Given the description of an element on the screen output the (x, y) to click on. 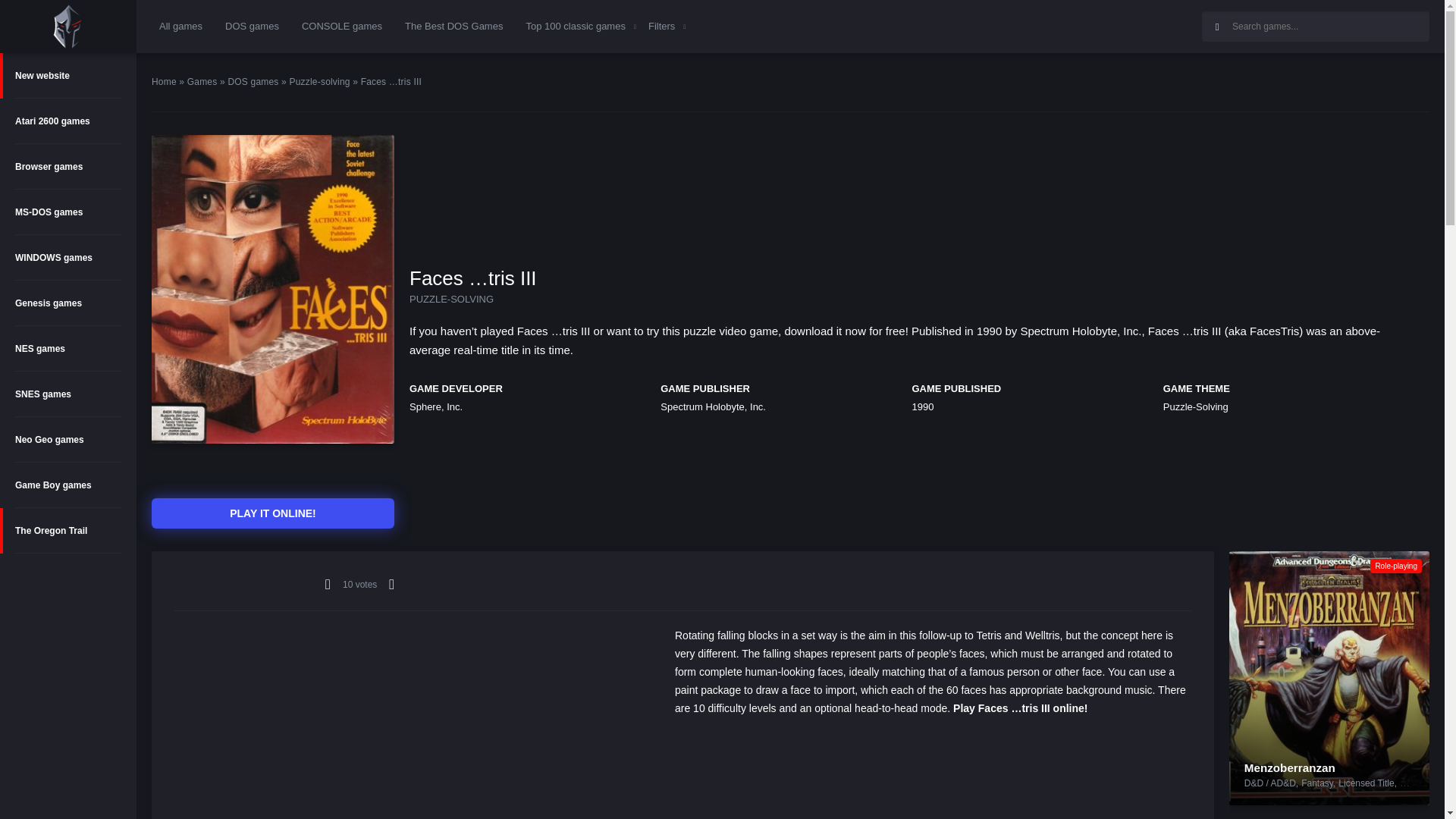
New website (68, 75)
DOS games (252, 25)
All games (180, 25)
CONSOLE games (341, 25)
Play CLASSIC games online (68, 26)
The Best DOS Games (453, 25)
Play Classic games online (67, 26)
Filters (661, 25)
Play Role-playing games online (1396, 565)
Atari 2600 games (68, 121)
Play Menzoberranzan Online (1289, 767)
Top 100 classic games (575, 25)
